Given the description of an element on the screen output the (x, y) to click on. 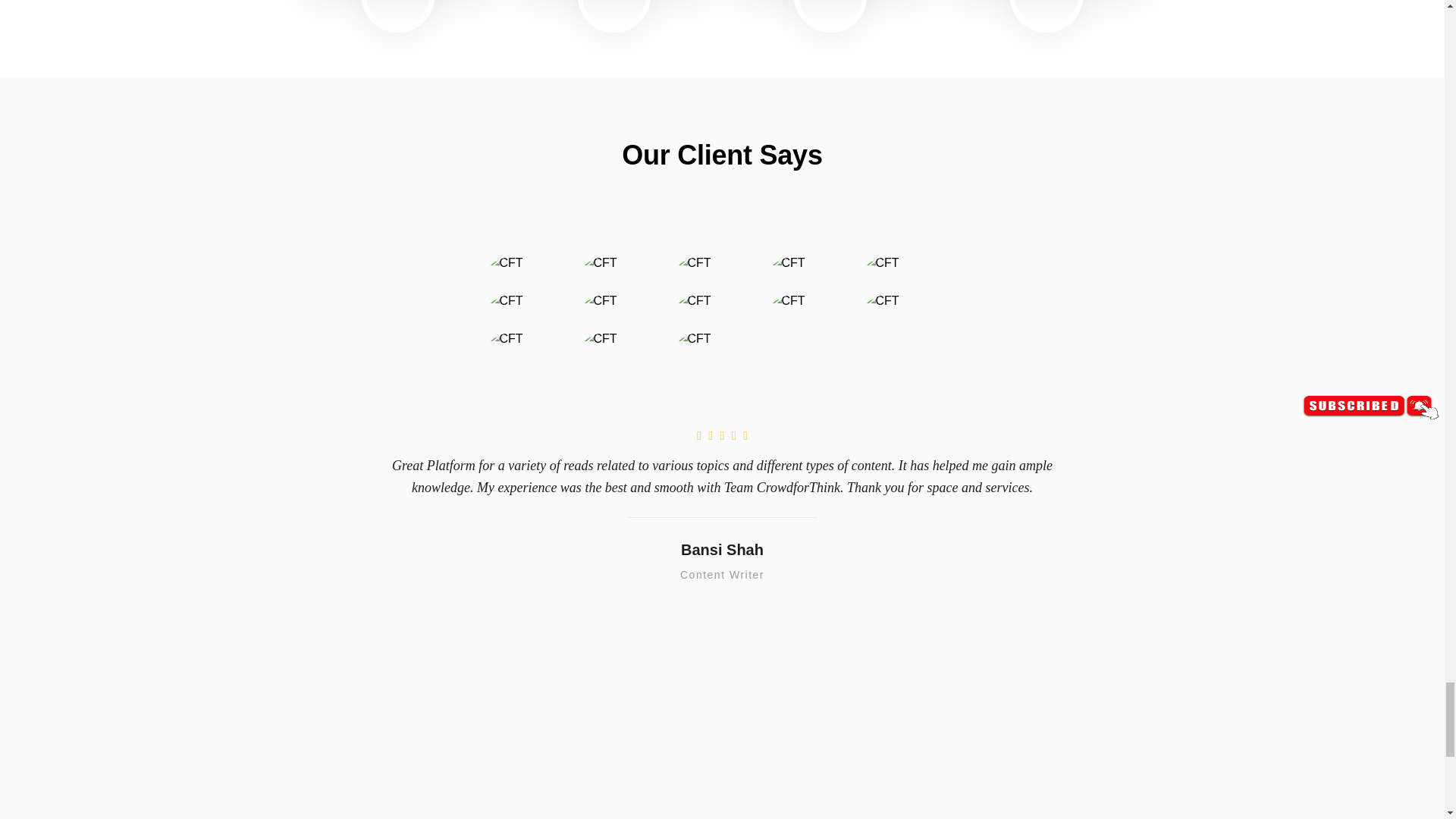
Zakariya Usman (829, 2)
Lamia Rochdi (397, 2)
Mertin Wilson (614, 2)
Pankaj Singh (1046, 2)
